Given the description of an element on the screen output the (x, y) to click on. 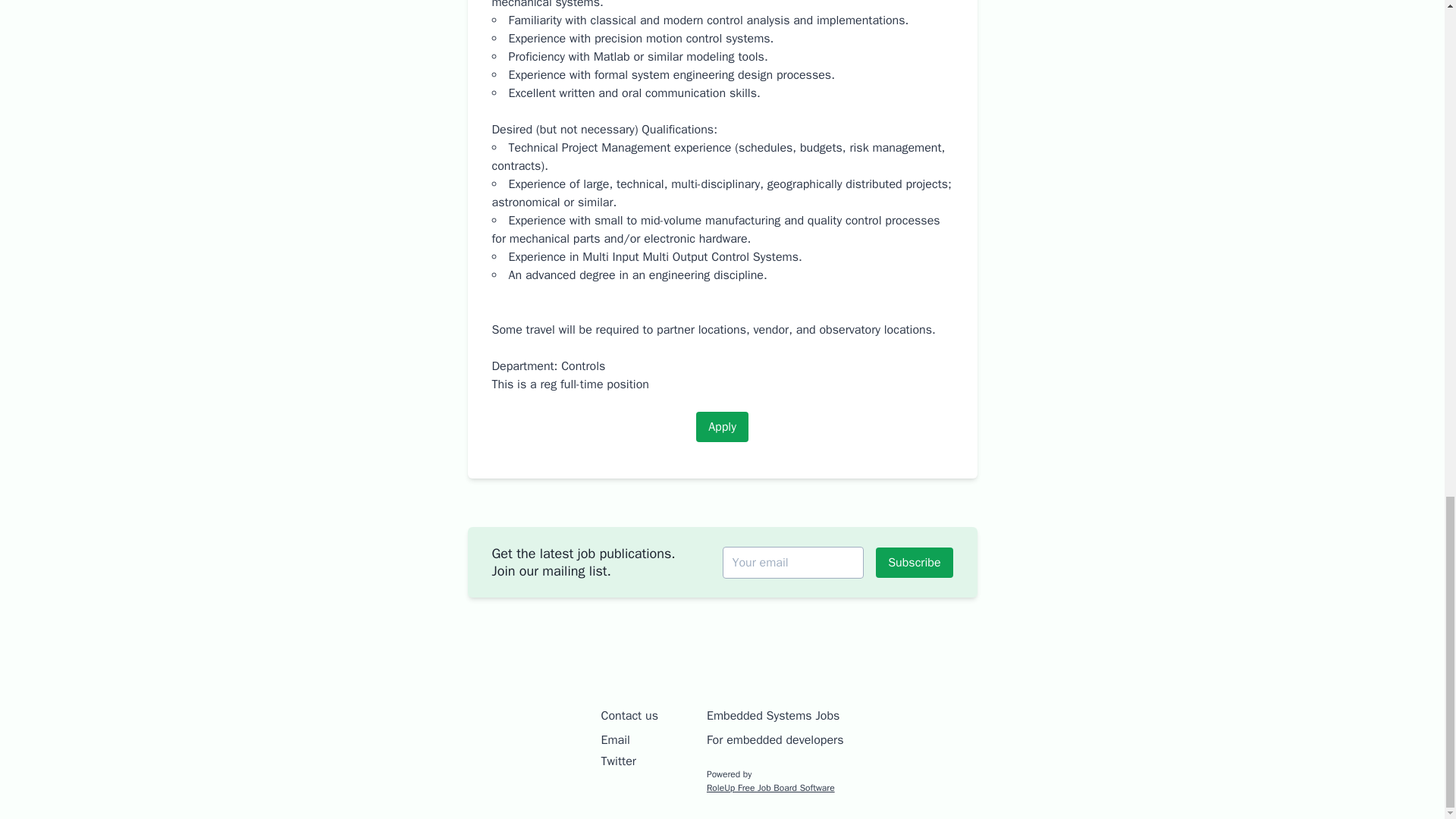
Email (615, 739)
Subscribe (914, 562)
Free Job Board Software (770, 787)
Apply (721, 426)
RoleUp Free Job Board Software (770, 787)
Twitter (618, 761)
Embedded Systems Jobs (773, 715)
